Given the description of an element on the screen output the (x, y) to click on. 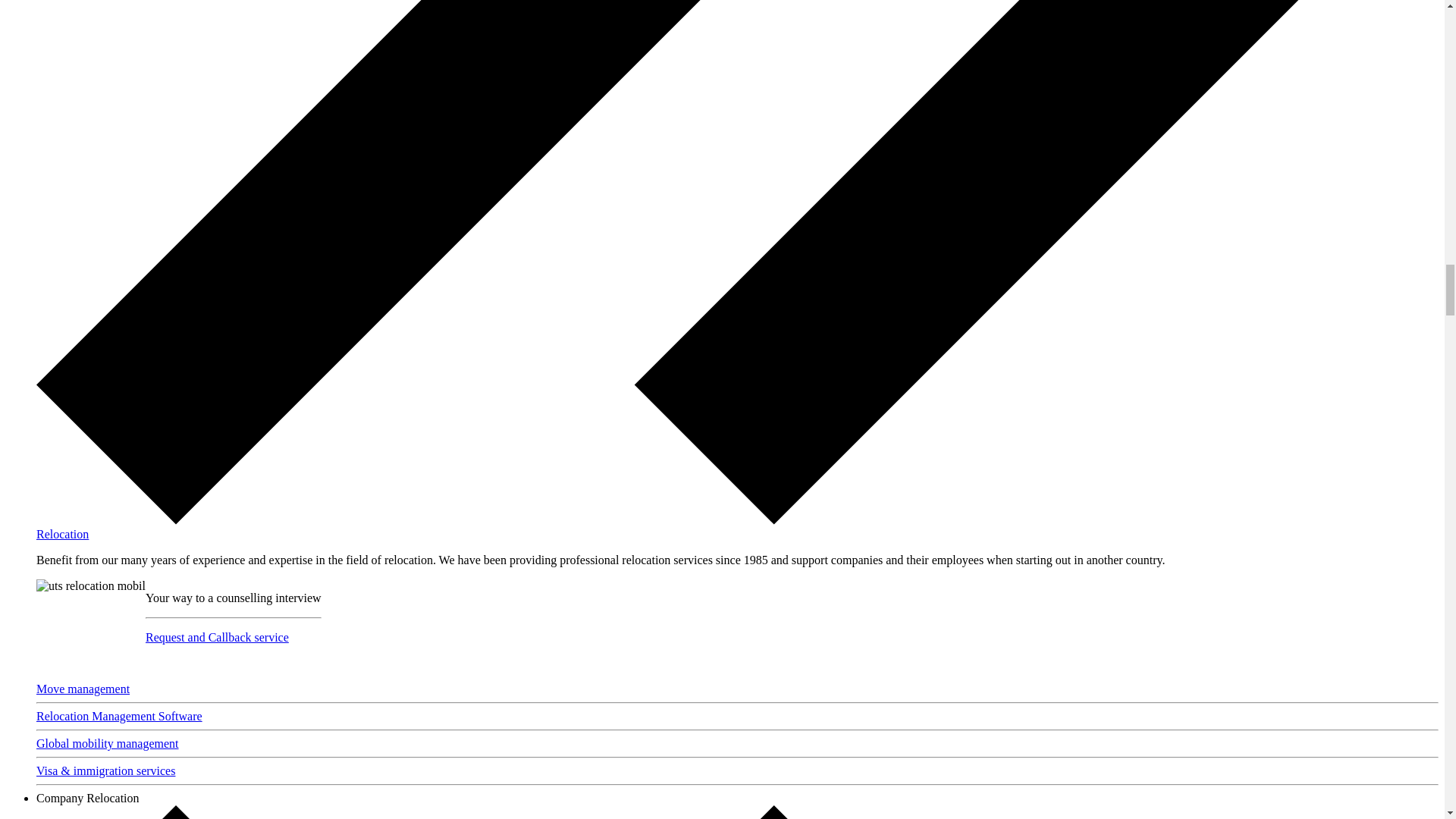
Move management (82, 688)
Request and Callback service (216, 636)
Relocation Management Software (119, 716)
uts relocation mobil (90, 585)
Relocation Management Software (119, 716)
Move management (82, 688)
Company Relocation (87, 797)
to request and callback service (216, 636)
Global mobility management (107, 743)
Global mobility management (107, 743)
